Given the description of an element on the screen output the (x, y) to click on. 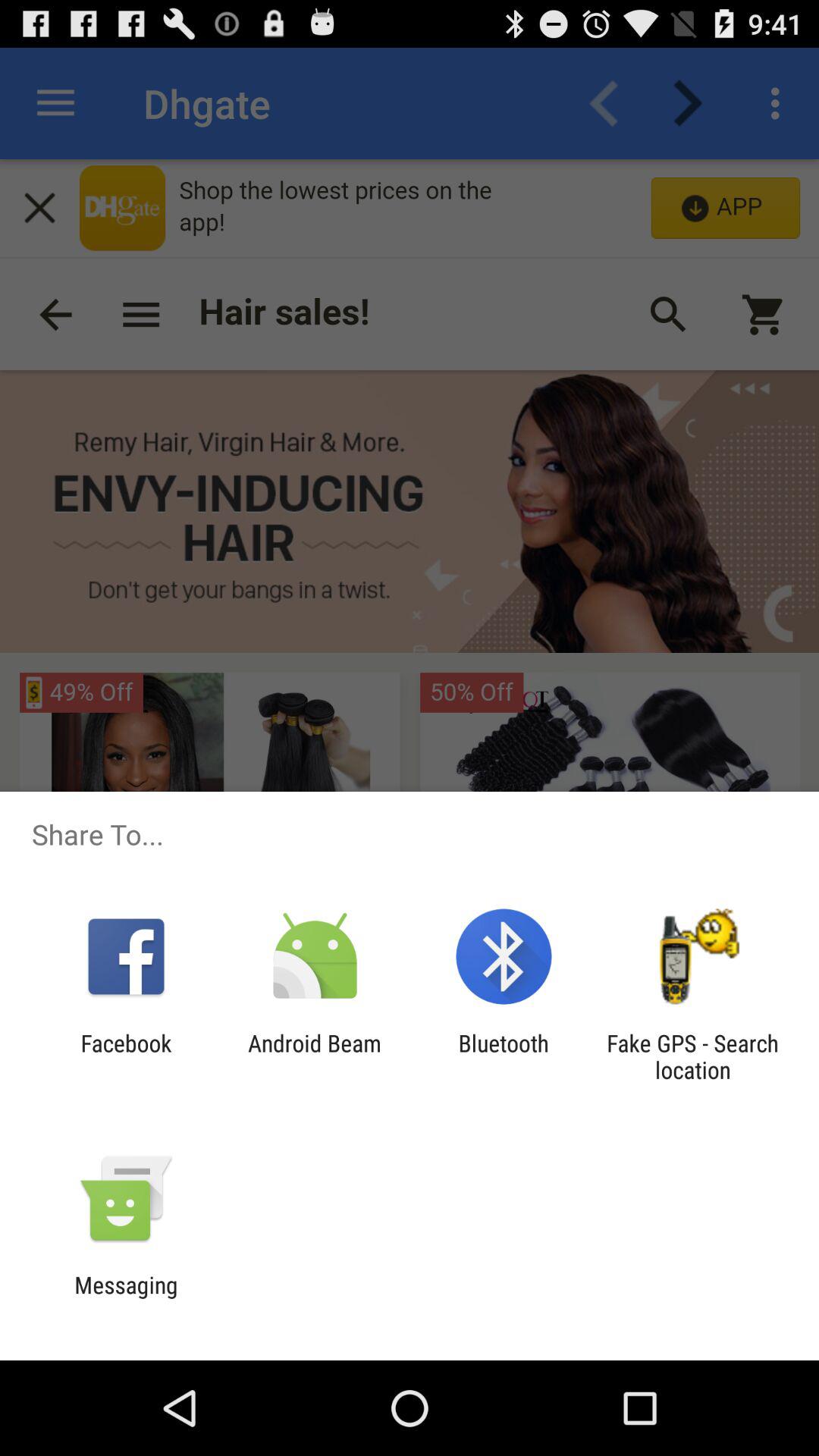
click the item to the right of bluetooth app (692, 1056)
